Given the description of an element on the screen output the (x, y) to click on. 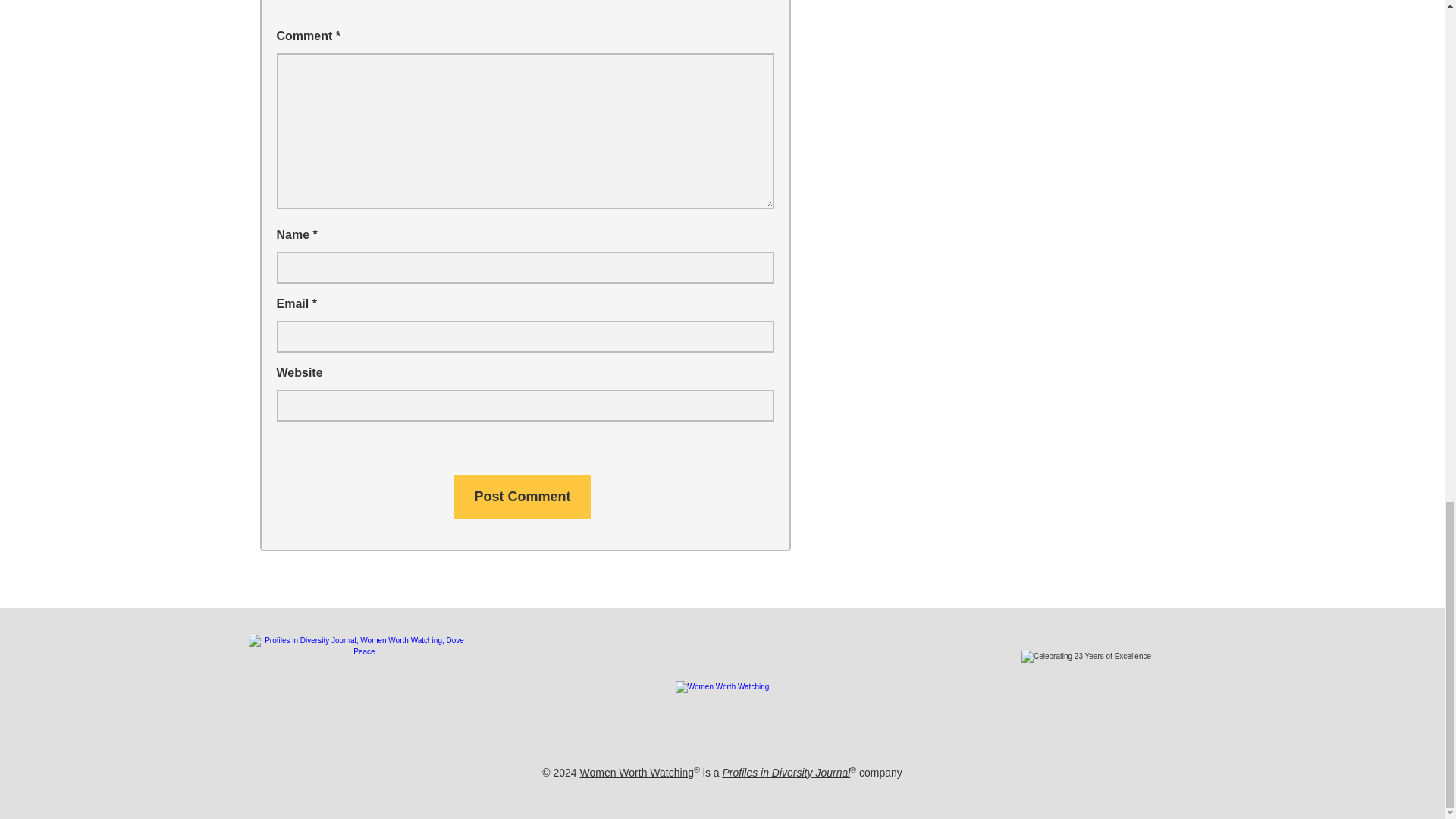
Post Comment (521, 497)
